Given the description of an element on the screen output the (x, y) to click on. 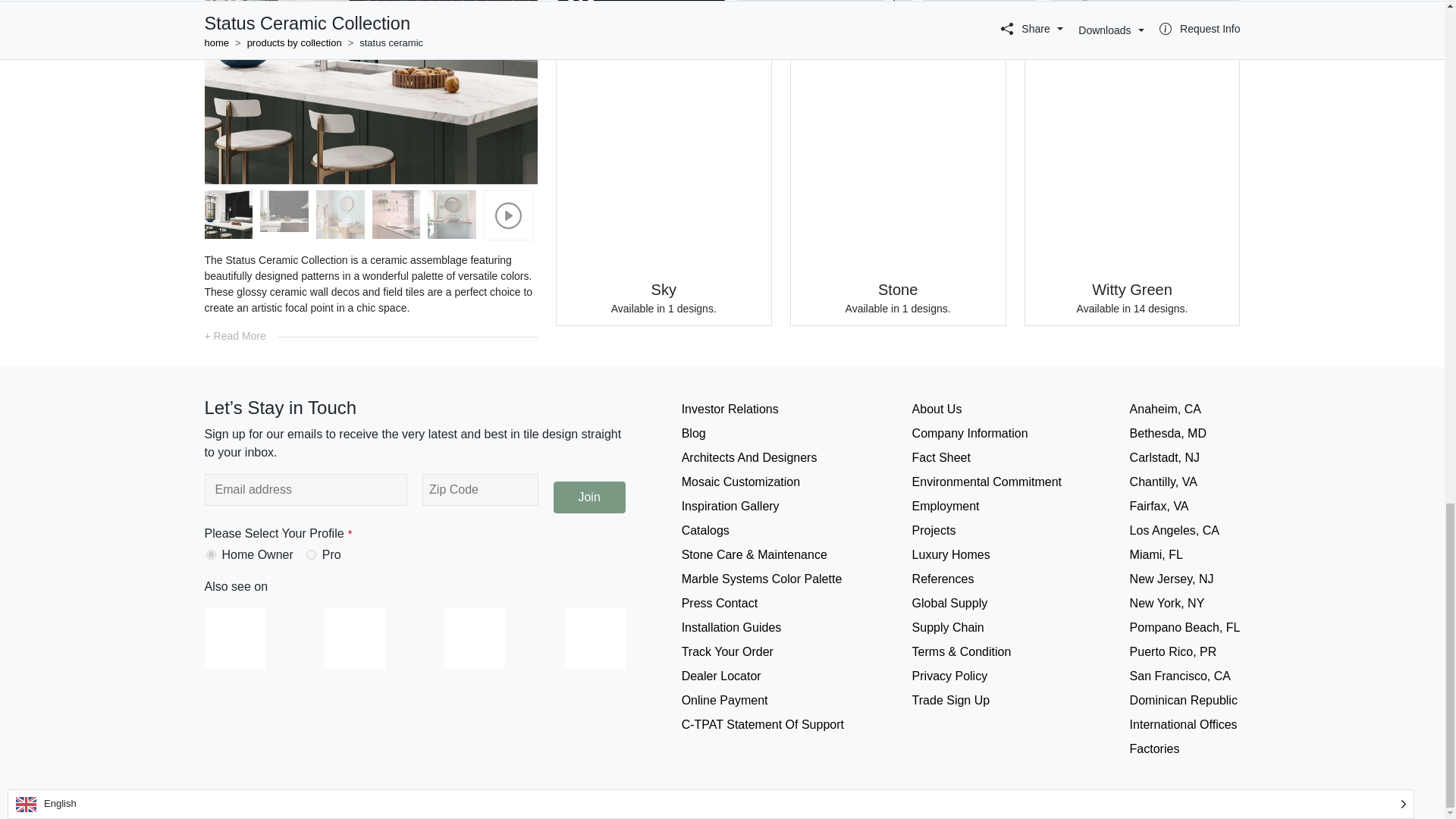
Home Owner (210, 554)
Pro (310, 554)
